Given the description of an element on the screen output the (x, y) to click on. 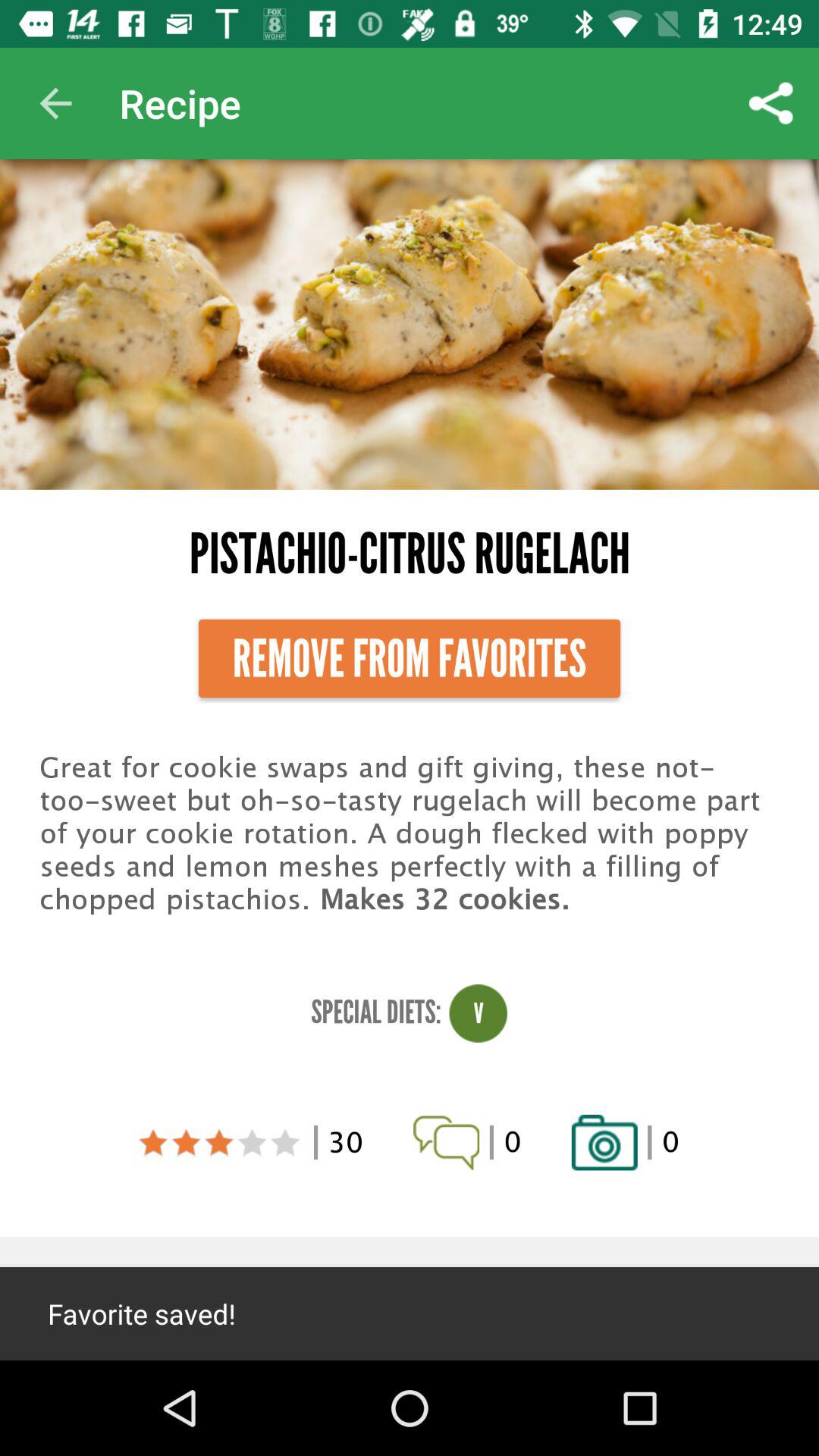
choose item above pistachio-citrus rugelach item (771, 103)
